Given the description of an element on the screen output the (x, y) to click on. 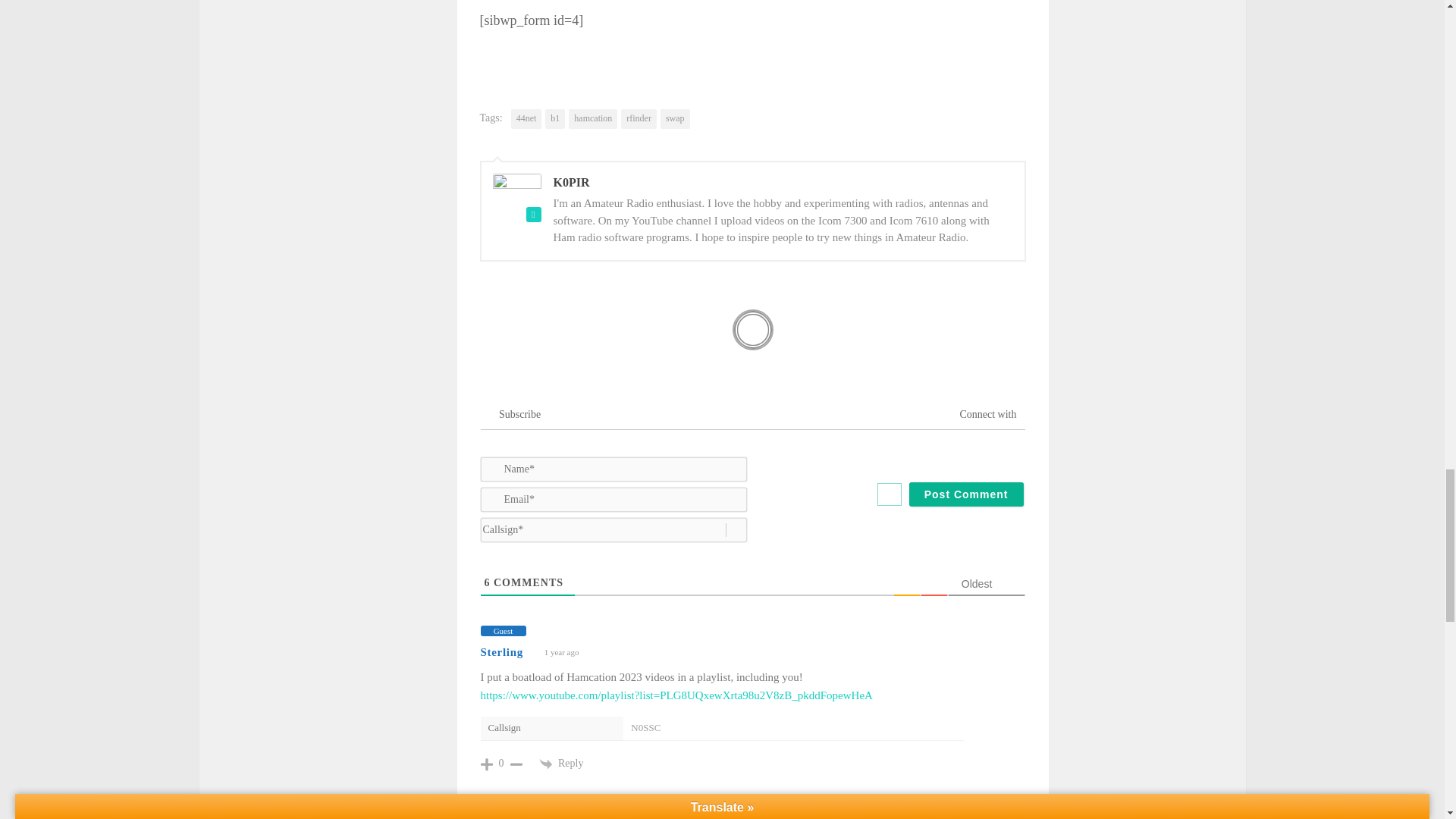
Post Comment (965, 494)
44net (526, 118)
b1 (554, 118)
